Given the description of an element on the screen output the (x, y) to click on. 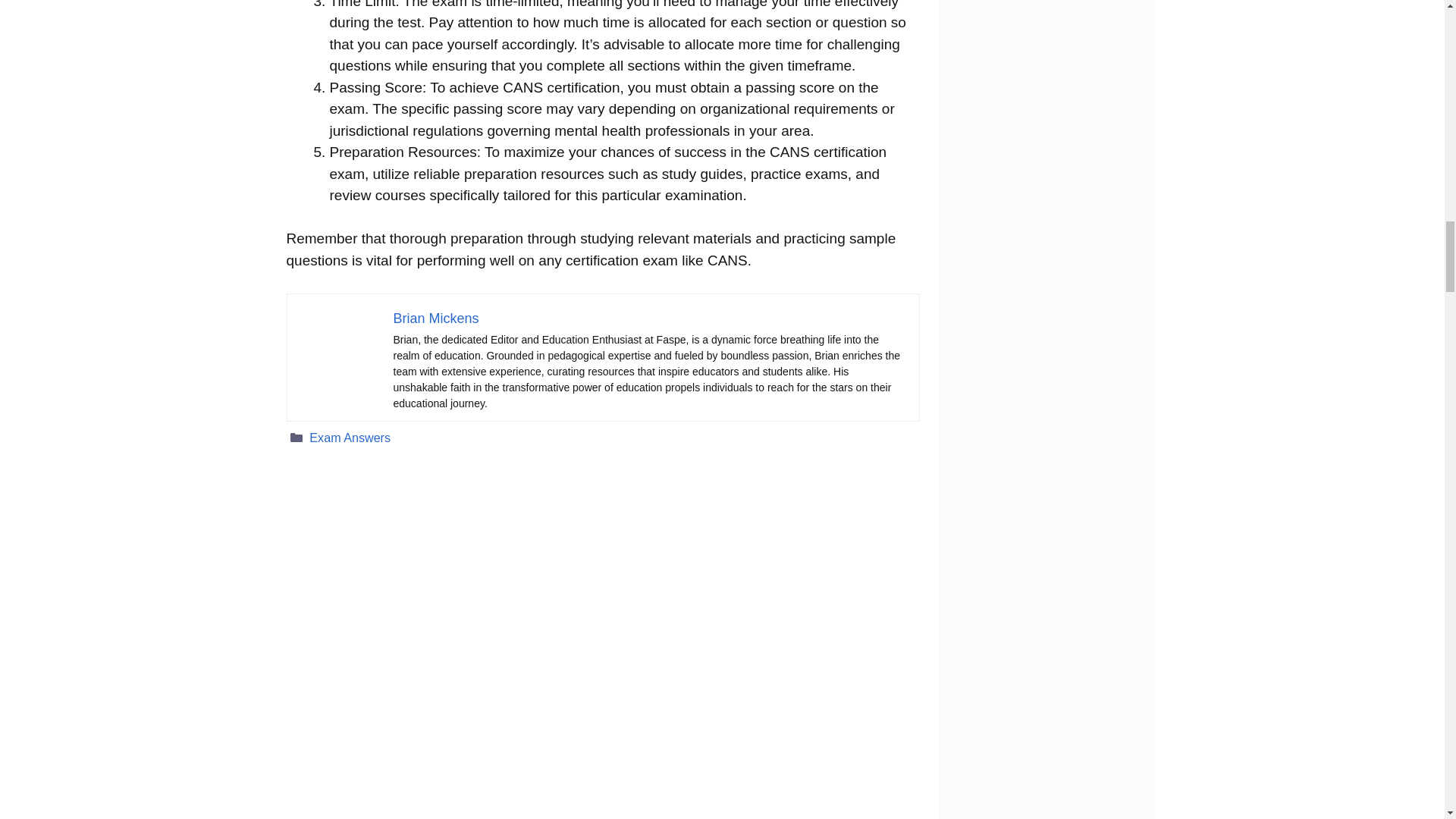
Exam Answers (349, 437)
Brian Mickens (436, 318)
